Given the description of an element on the screen output the (x, y) to click on. 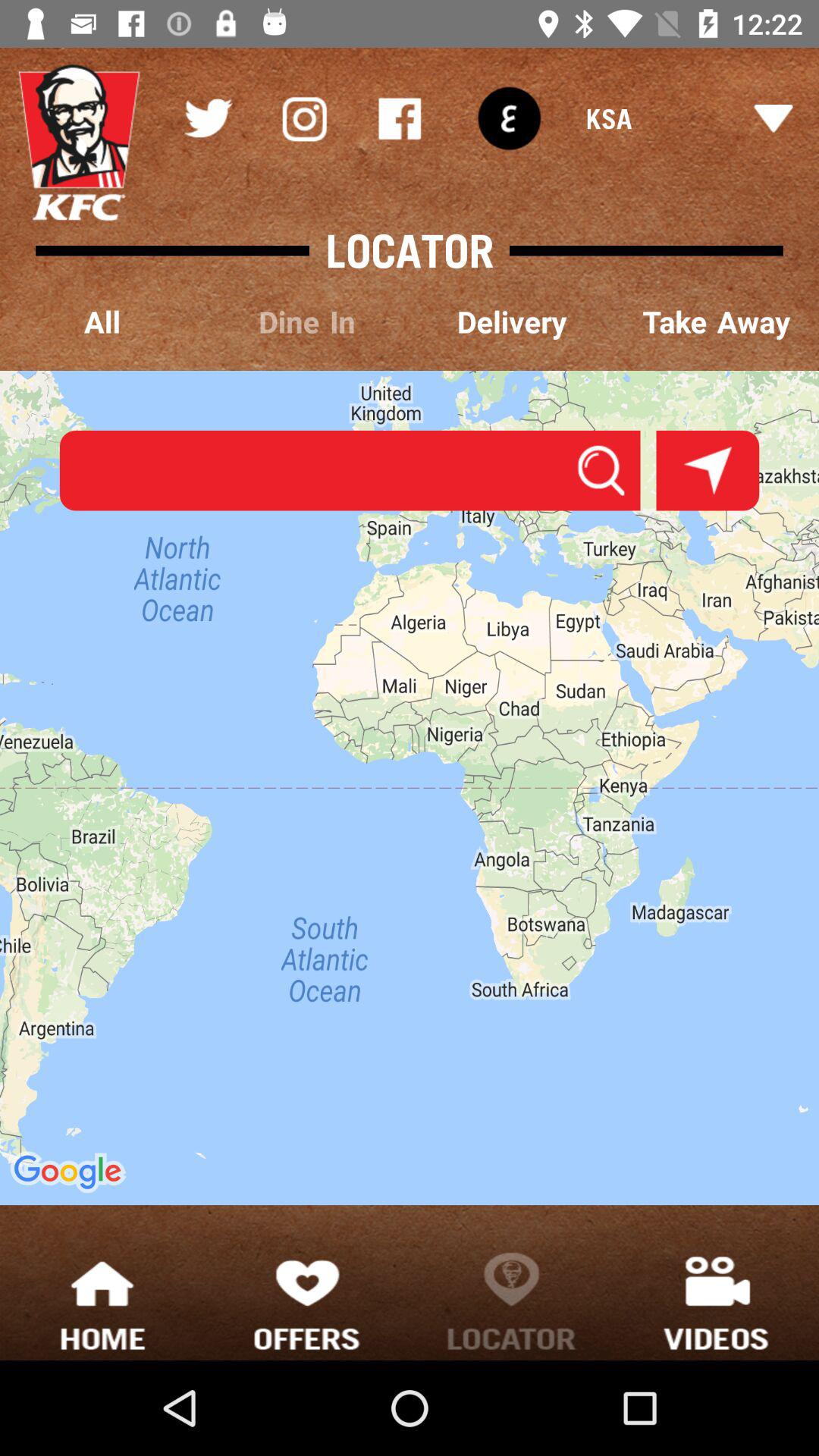
scroll to the delivery (511, 322)
